Given the description of an element on the screen output the (x, y) to click on. 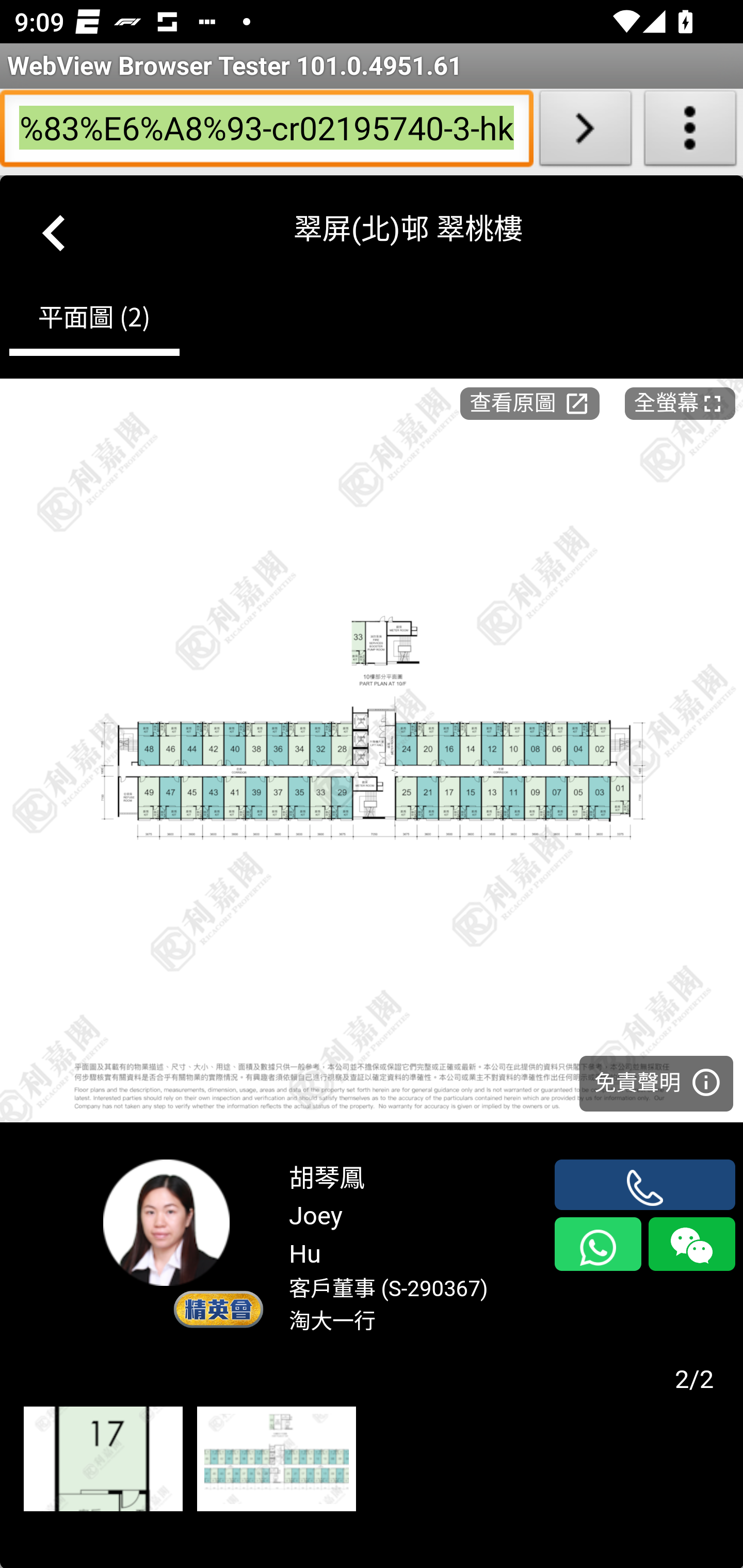
Load URL (585, 132)
About WebView (690, 132)
keyboard_arrow_left (54, 229)
平面圖 (2) (93, 320)
image (371, 749)
查看原圖launch (528, 402)
全螢幕fullscreen (679, 402)
免責聲明 (656, 1082)
phone (644, 1184)
whatsapp (597, 1244)
wechat (691, 1244)
161444_2000_Ricacorp (102, 1459)
161367_2000_Ricacorp (275, 1459)
